Given the description of an element on the screen output the (x, y) to click on. 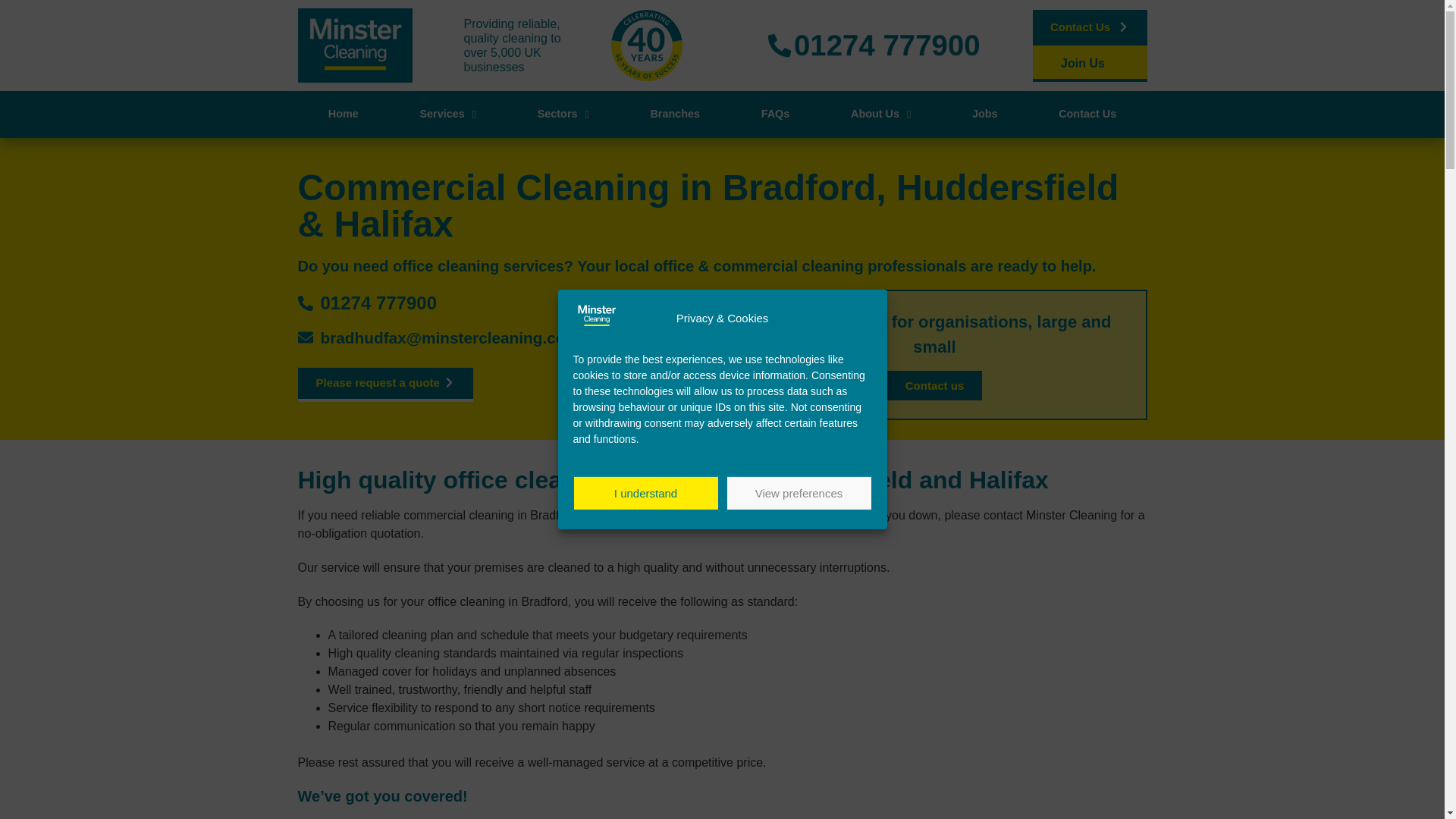
I understand (646, 492)
Services (447, 114)
Home (342, 114)
Contact Us (1089, 28)
Sectors (563, 114)
View preferences (799, 492)
Join Us (1089, 64)
